Given the description of an element on the screen output the (x, y) to click on. 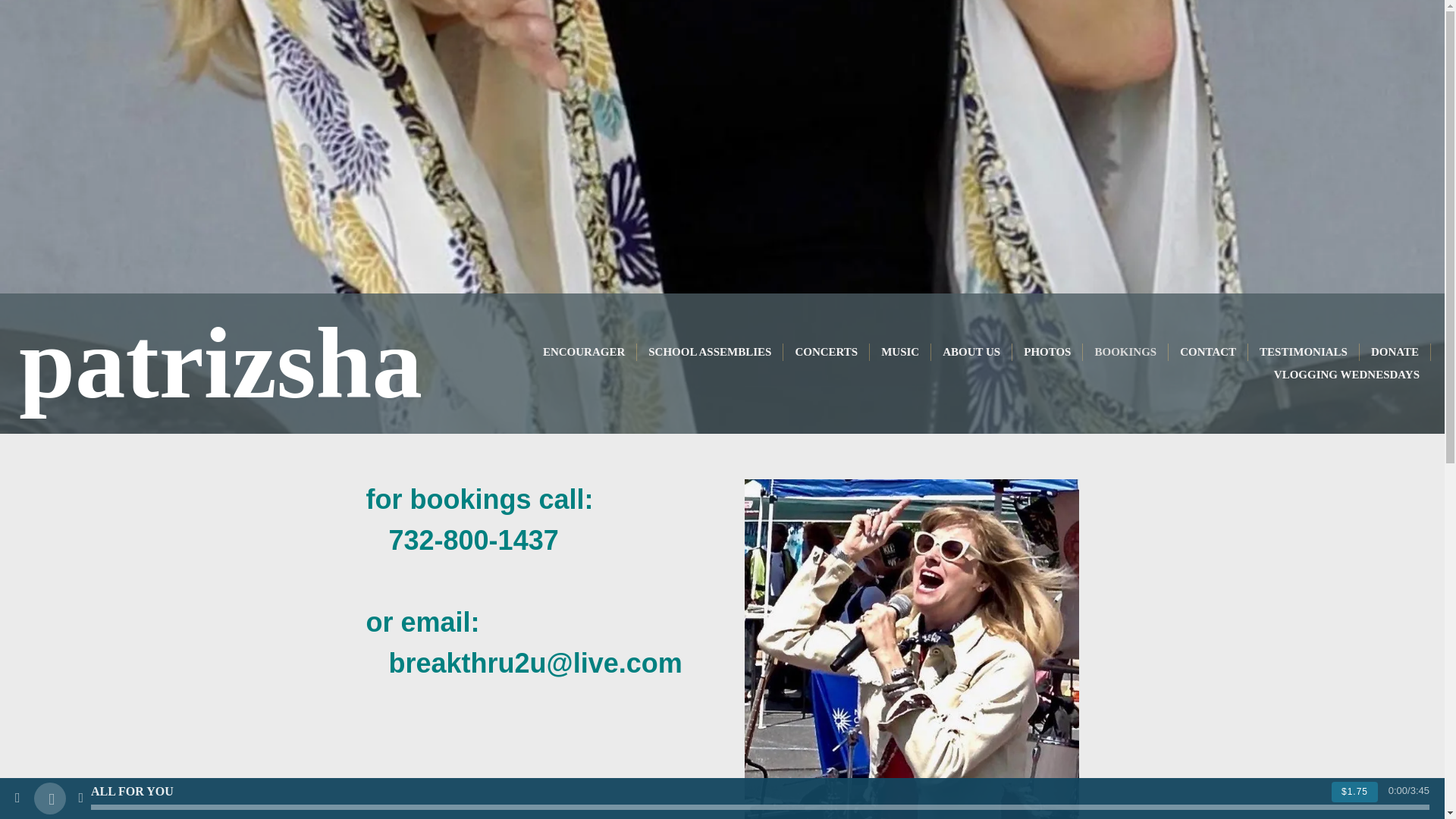
PHOTOS (1046, 352)
DONATE (1394, 352)
TESTIMONIALS (1303, 352)
VLOGGING WEDNESDAYS (1346, 375)
patrizsha (220, 390)
ENCOURAGER (583, 352)
CONTACT (1207, 352)
SCHOOL ASSEMBLIES (709, 352)
CONCERTS (825, 352)
MUSIC (899, 352)
ABOUT US (971, 352)
BOOKINGS (1125, 352)
